Given the description of an element on the screen output the (x, y) to click on. 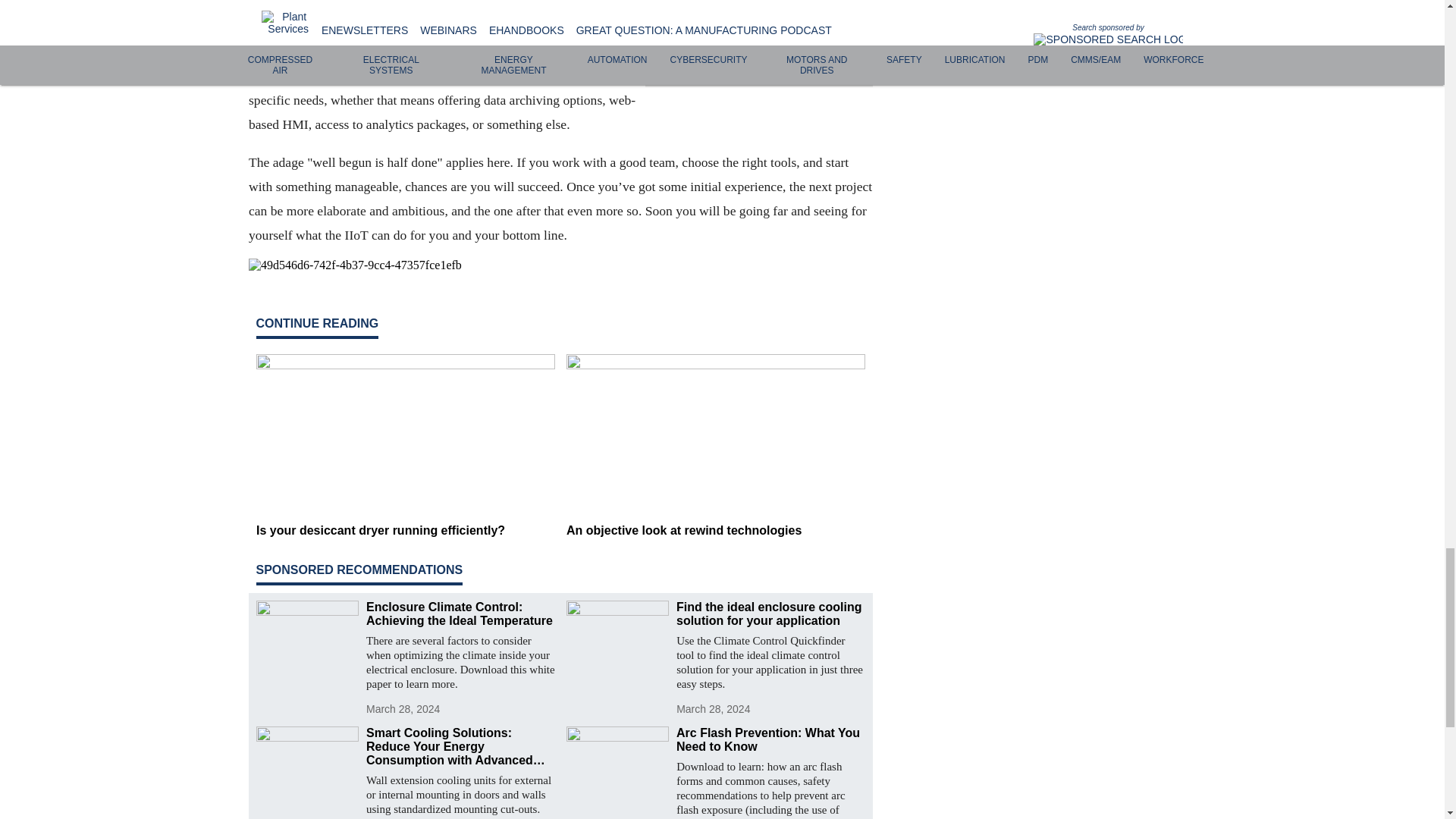
49d546d6-742f-4b37-9cc4-47357fce1efb (560, 264)
CSIA Exchange (750, 65)
Is your desiccant dryer running efficiently? (405, 530)
An objective look at rewind technologies (715, 530)
